Given the description of an element on the screen output the (x, y) to click on. 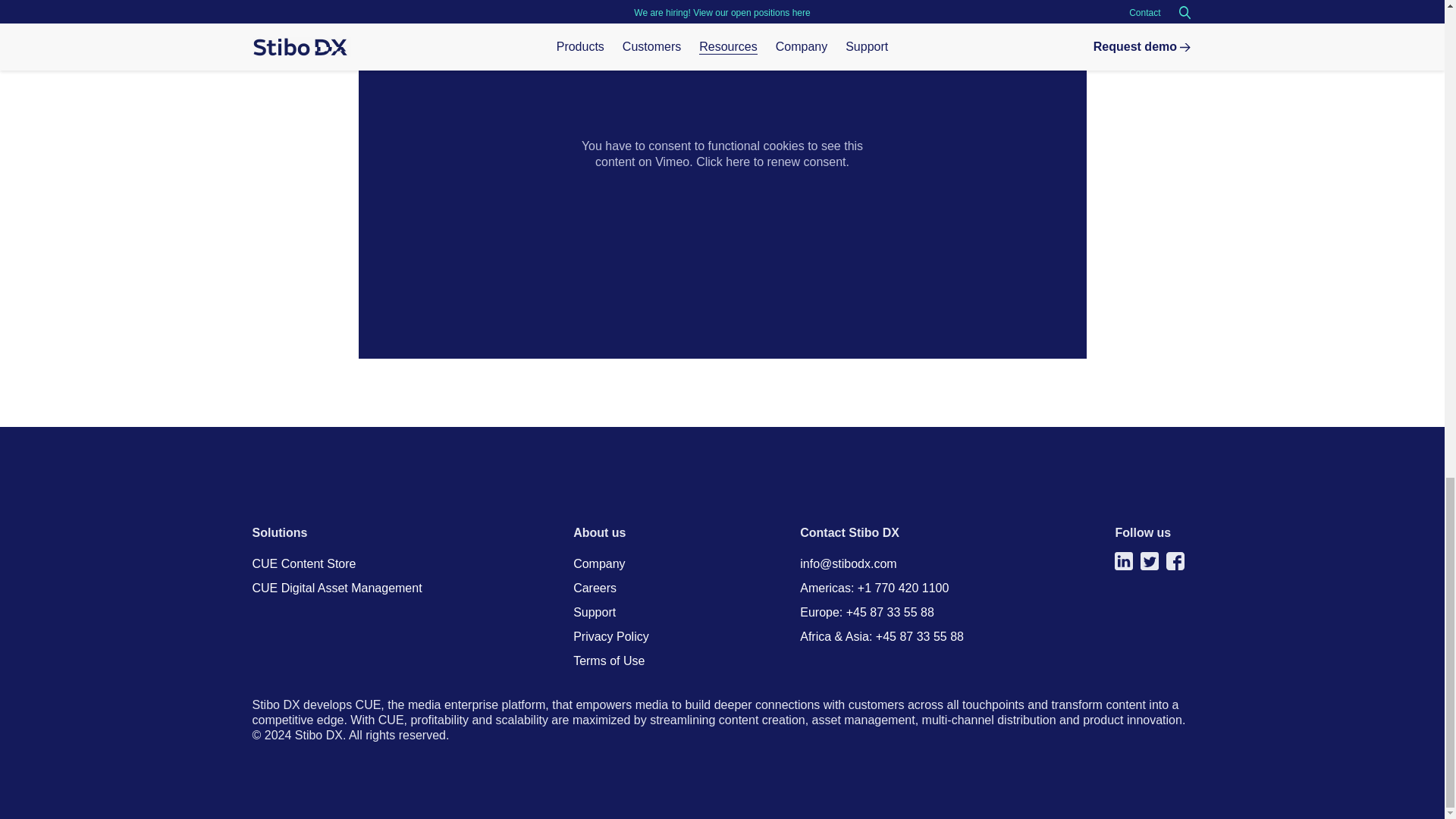
Company (598, 563)
Support (594, 612)
Support (594, 612)
X (1149, 561)
Careers (594, 587)
Privacy Policy (611, 635)
CUE Digital Asset Management (336, 587)
Terms of Use (609, 660)
Facebook (1175, 561)
Careers (594, 587)
CUE Content Store (303, 563)
CUE Content Store (303, 563)
Linkedin (1123, 561)
Company (598, 563)
Privacy Policy (611, 635)
